Given the description of an element on the screen output the (x, y) to click on. 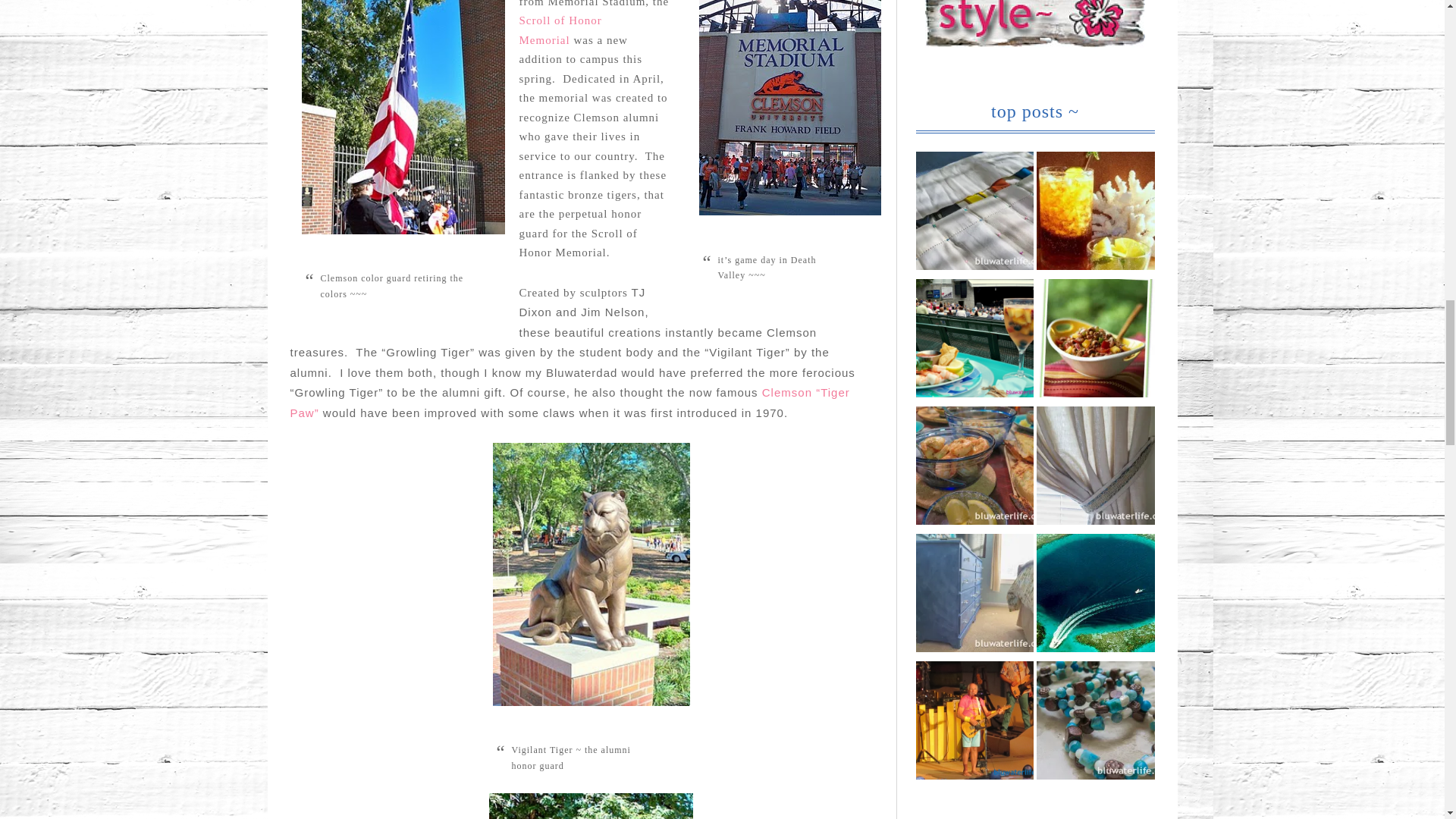
Scroll of Honor Memorial (559, 29)
classic boat drinks (1095, 213)
